Given the description of an element on the screen output the (x, y) to click on. 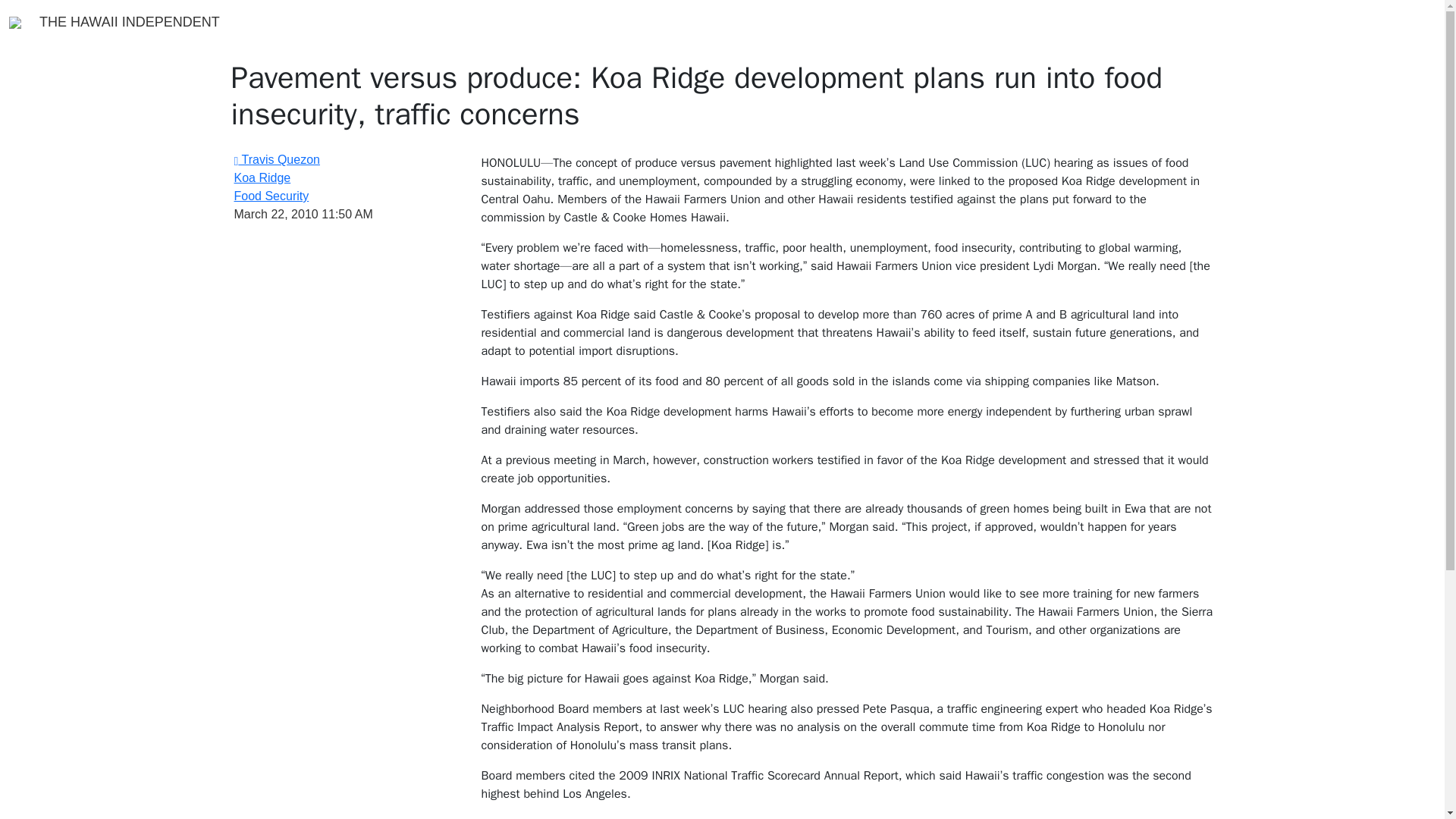
THE HAWAII INDEPENDENT (129, 21)
Food Security (346, 196)
Travis Quezon (275, 159)
Koa Ridge (346, 177)
